Given the description of an element on the screen output the (x, y) to click on. 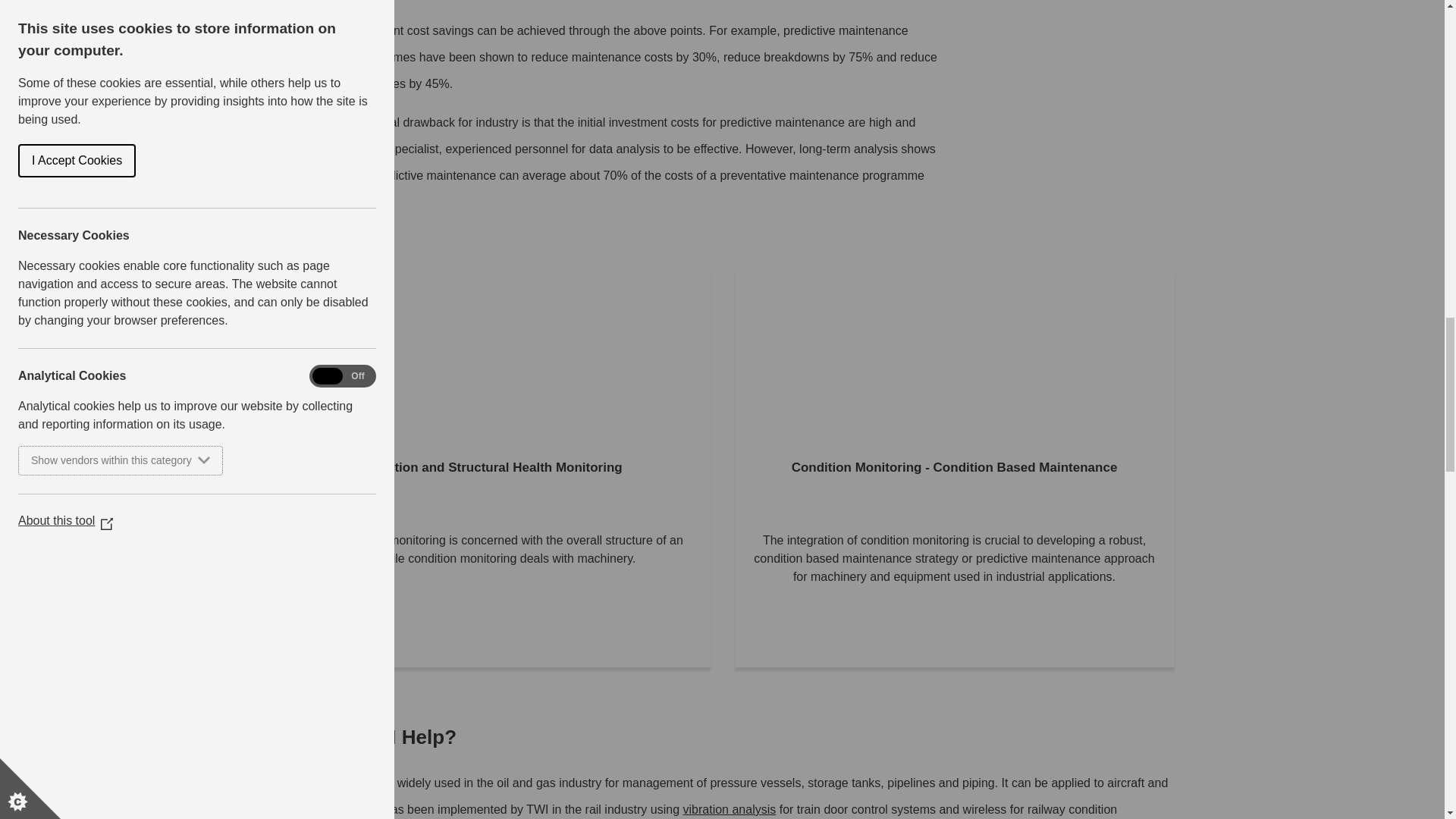
What is Vibration Analysis and What is it Used For? (729, 809)
